Given the description of an element on the screen output the (x, y) to click on. 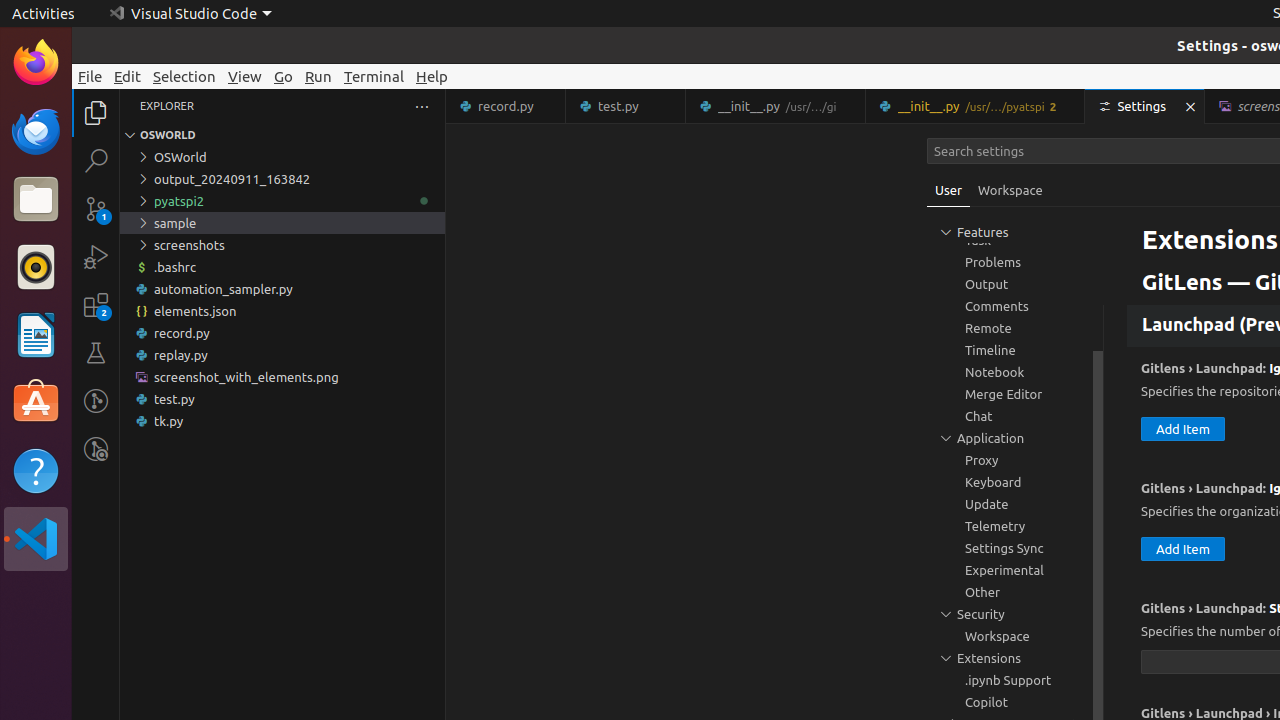
Task, group Element type: tree-item (1015, 240)
User Element type: check-box (949, 190)
Search (Ctrl+Shift+F) Element type: page-tab (96, 160)
Problems, group Element type: tree-item (1015, 262)
replay.py Element type: tree-item (282, 355)
